Given the description of an element on the screen output the (x, y) to click on. 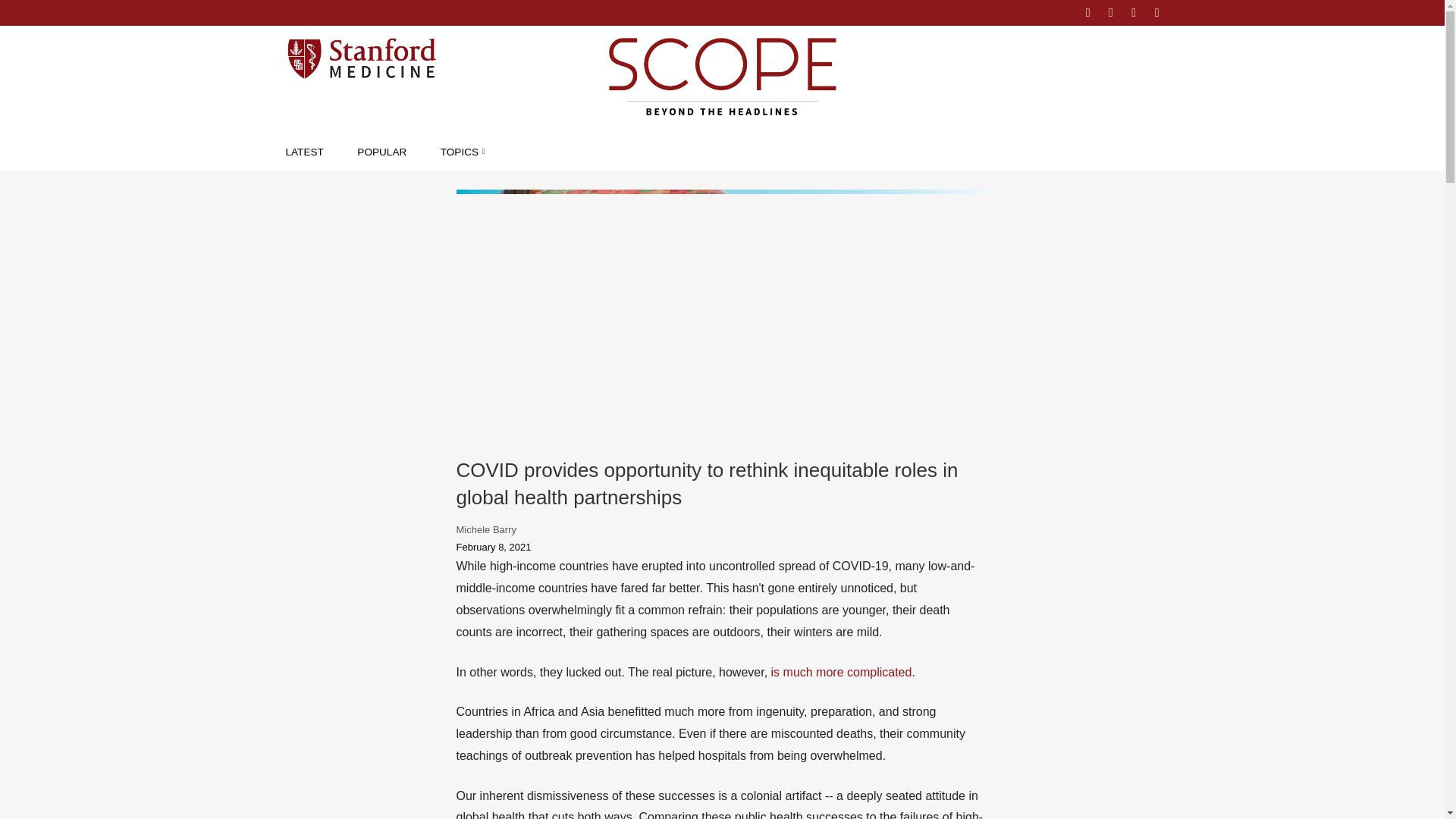
Search (26, 12)
LATEST (304, 152)
ABOUT (1043, 12)
is much more complicated (841, 671)
MEDICAL RESEARCH (527, 186)
TOPICS (462, 152)
POPULAR (381, 152)
Michele Barry (486, 529)
